Given the description of an element on the screen output the (x, y) to click on. 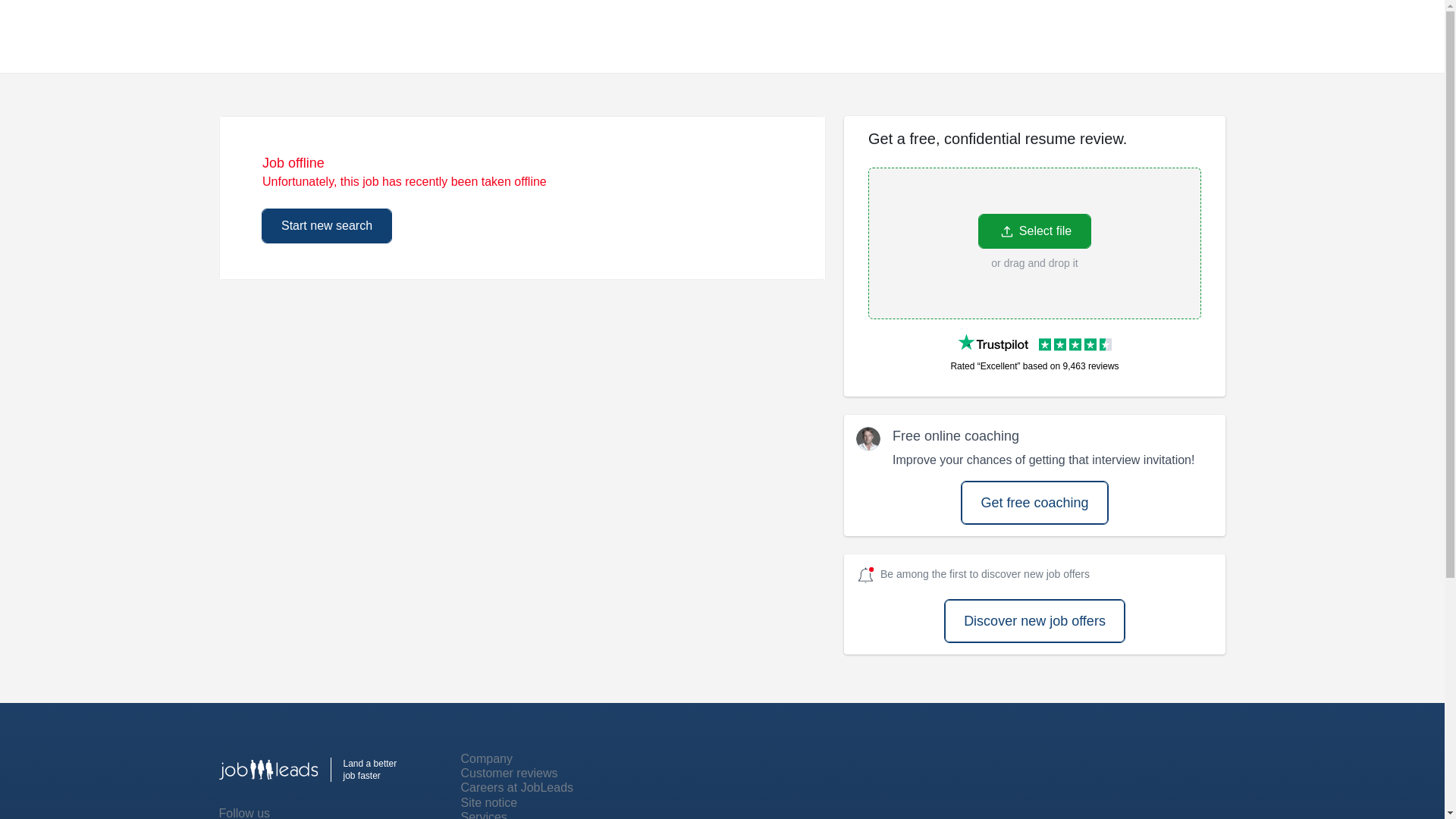
Start new search (326, 225)
Discover new job offers (1034, 620)
Careers at JobLeads (517, 787)
Get free coaching (1033, 502)
Select file (1034, 231)
Customer reviews (509, 772)
Site notice (489, 802)
